Given the description of an element on the screen output the (x, y) to click on. 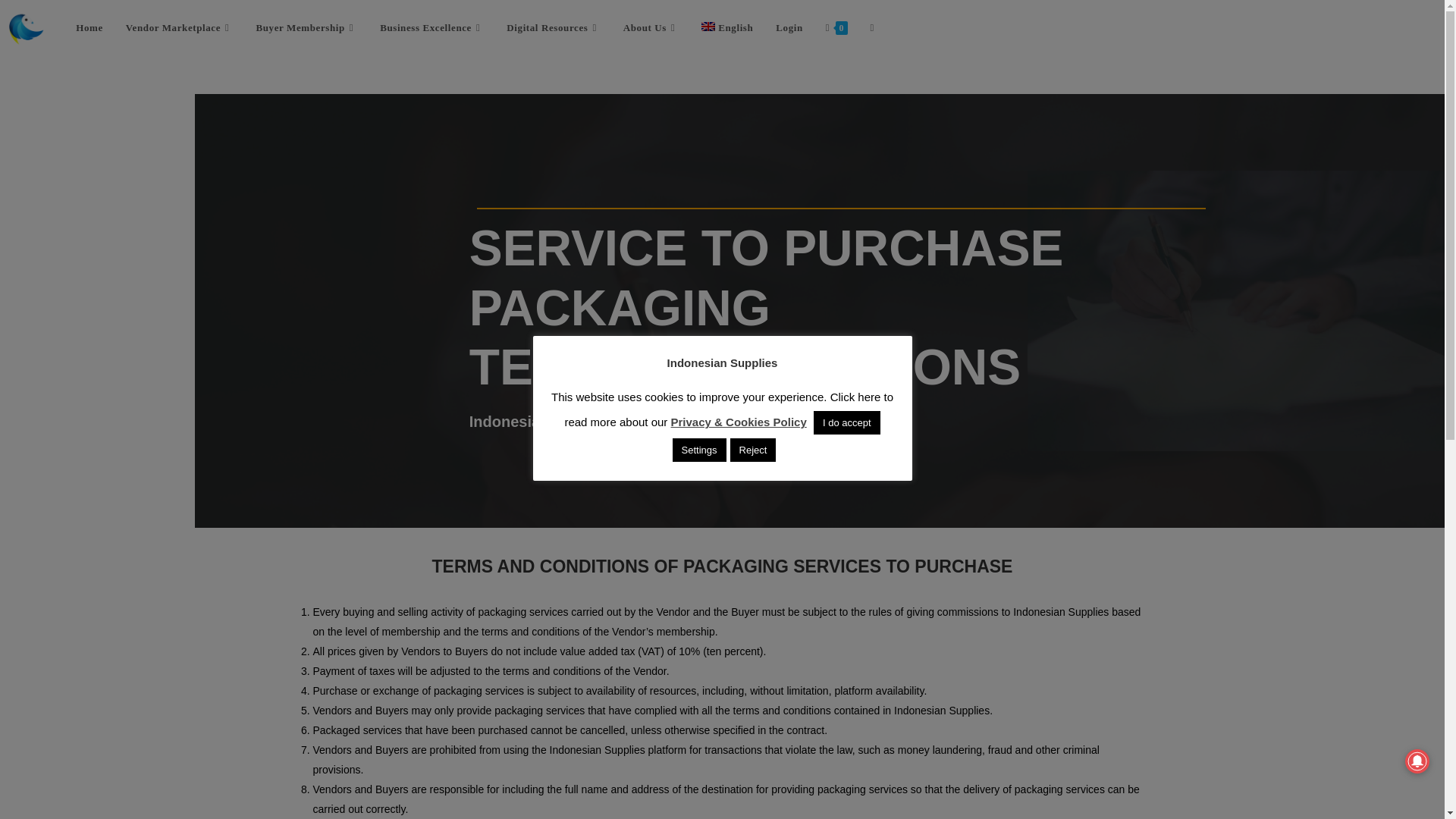
Home (89, 28)
Vendor Marketplace (179, 28)
Digital Resources (553, 28)
Login (788, 28)
English (727, 28)
Buyer Membership (306, 28)
English (727, 28)
About Us (650, 28)
Business Excellence (431, 28)
